Given the description of an element on the screen output the (x, y) to click on. 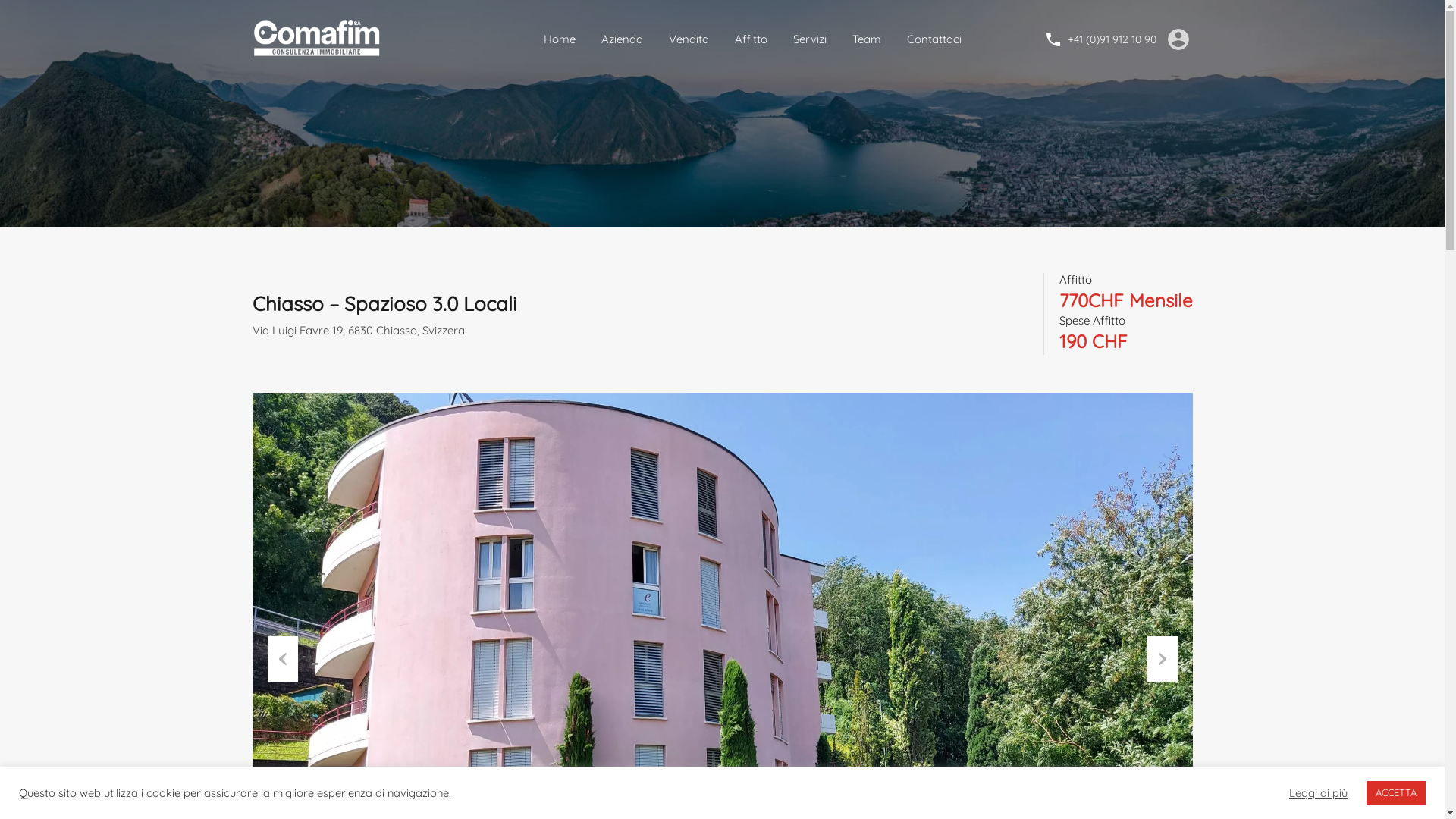
Azienda Element type: text (621, 39)
Comafim SA Element type: hover (318, 37)
Affitto Element type: text (750, 39)
Previous Element type: text (281, 658)
Servizi Element type: text (808, 39)
Team Element type: text (865, 39)
ACCETTA Element type: text (1395, 792)
Vendita Element type: text (688, 39)
Home Element type: text (559, 39)
+41 (0)91 912 10 90 Element type: text (1111, 39)
Next Element type: text (1161, 658)
Contattaci Element type: text (933, 39)
